Given the description of an element on the screen output the (x, y) to click on. 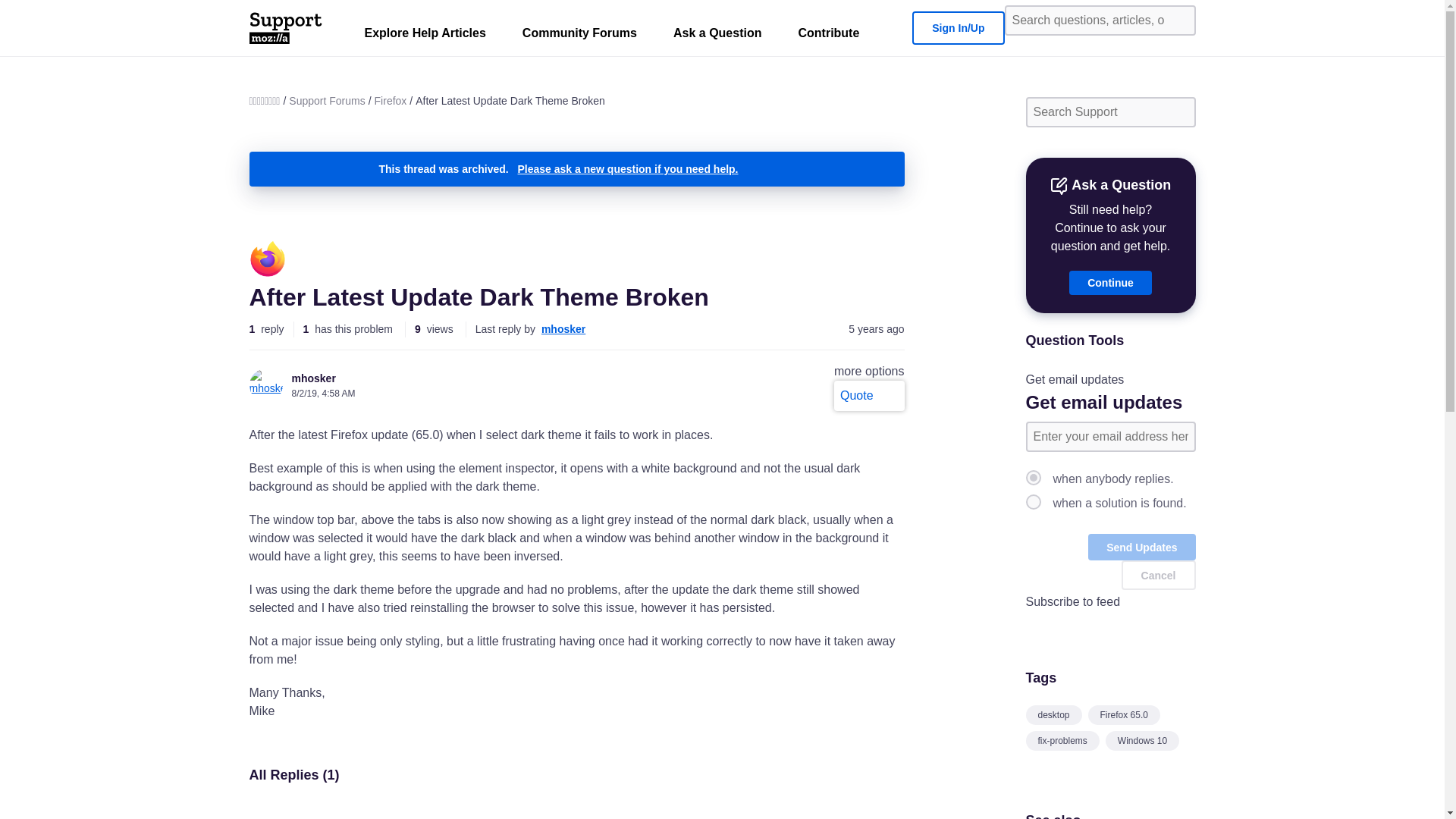
Community Forums (579, 37)
Search (1178, 20)
Explore Help Articles (424, 37)
Send Updates (1141, 546)
Ask a Question (716, 37)
Search (1178, 111)
